Given the description of an element on the screen output the (x, y) to click on. 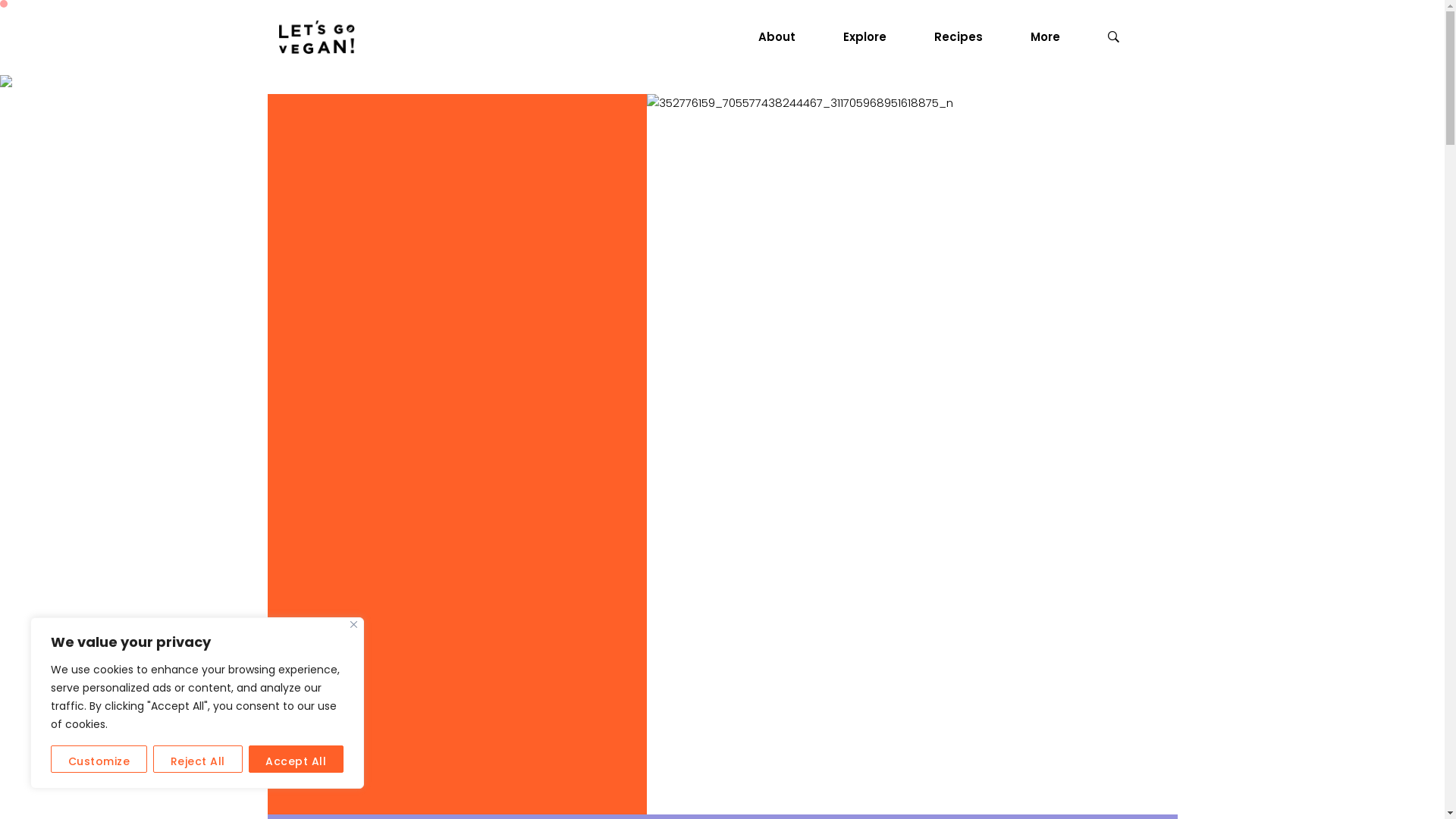
More Element type: text (1050, 37)
About Element type: text (782, 37)
Customize Element type: text (98, 758)
Explore Element type: text (870, 37)
Recipes Element type: text (963, 37)
Reject All Element type: text (197, 758)
Accept All Element type: text (296, 758)
